Given the description of an element on the screen output the (x, y) to click on. 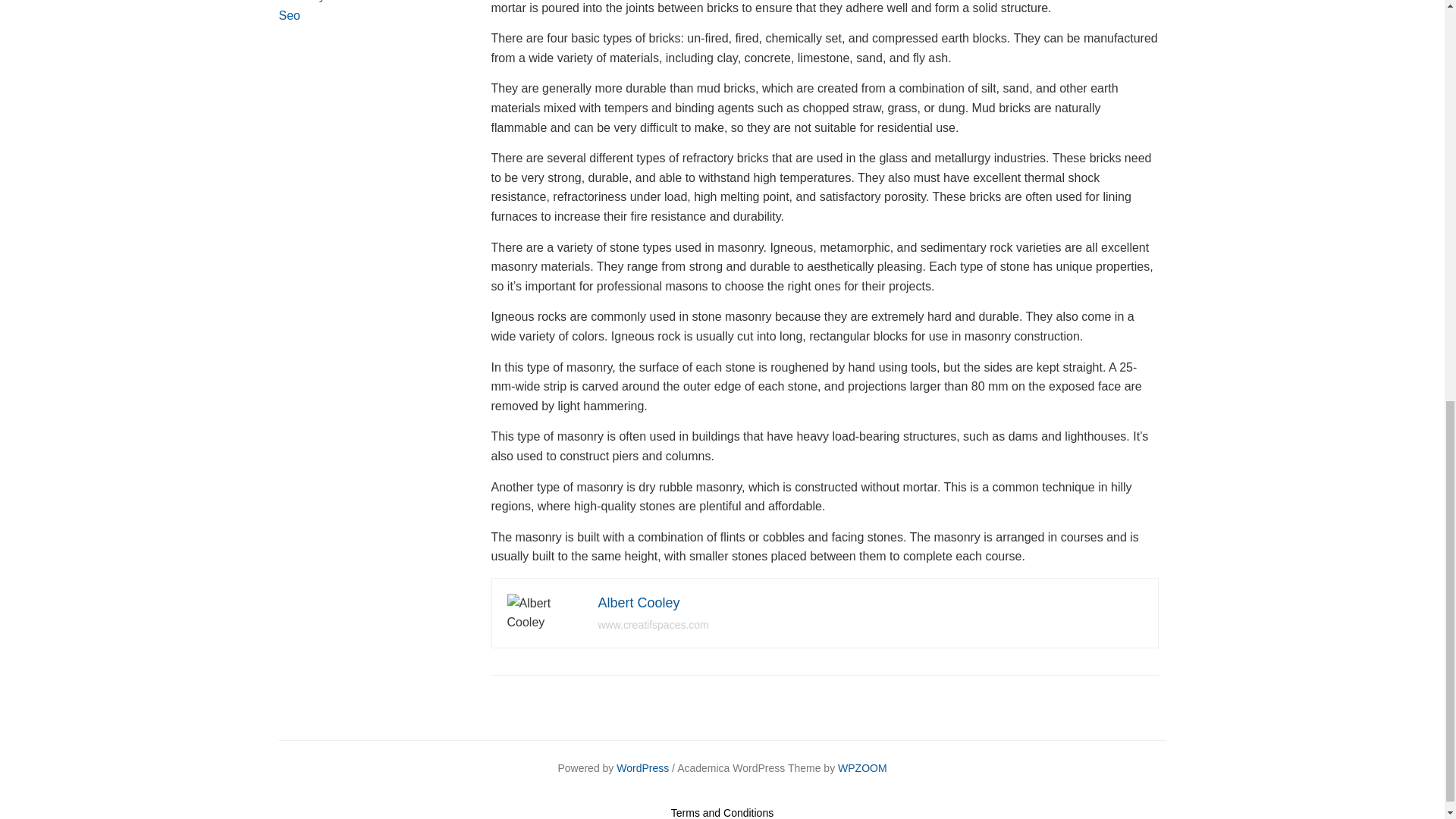
WordPress (641, 767)
Seo (289, 15)
WPZOOM (862, 767)
Albert Cooley (637, 602)
www.creatifspaces.com (651, 624)
Masonry (301, 1)
